Given the description of an element on the screen output the (x, y) to click on. 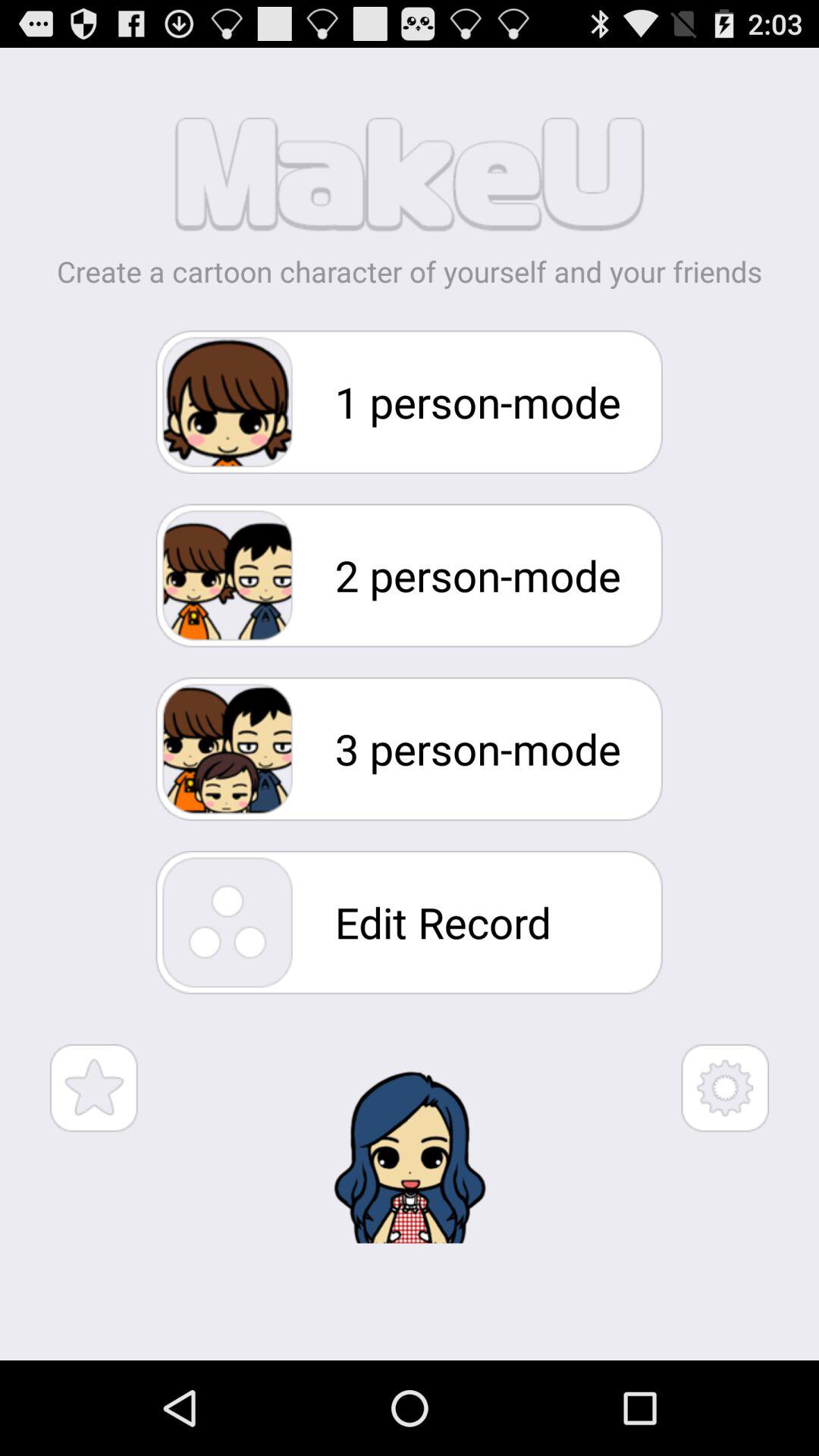
settings (724, 1087)
